Given the description of an element on the screen output the (x, y) to click on. 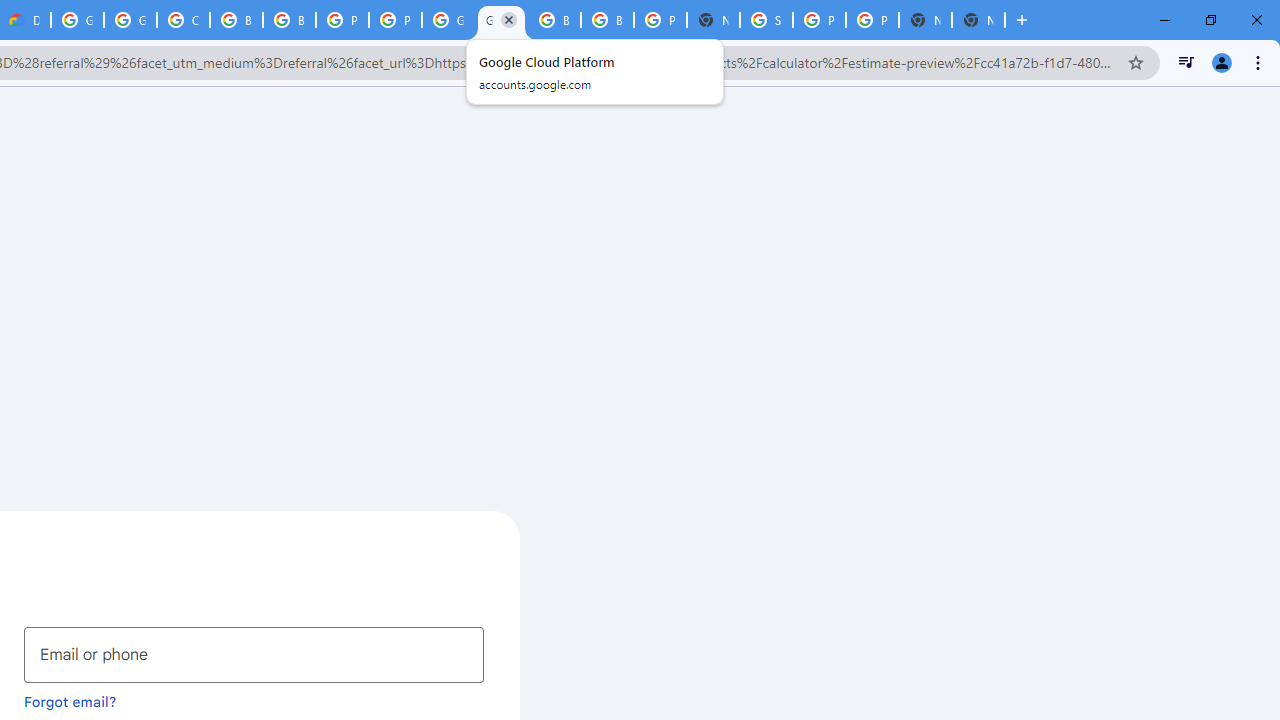
Google Cloud Platform (77, 20)
New Tab (713, 20)
Browse Chrome as a guest - Computer - Google Chrome Help (235, 20)
Sign in - Google Accounts (766, 20)
Browse Chrome as a guest - Computer - Google Chrome Help (289, 20)
Email or phone (253, 654)
